Given the description of an element on the screen output the (x, y) to click on. 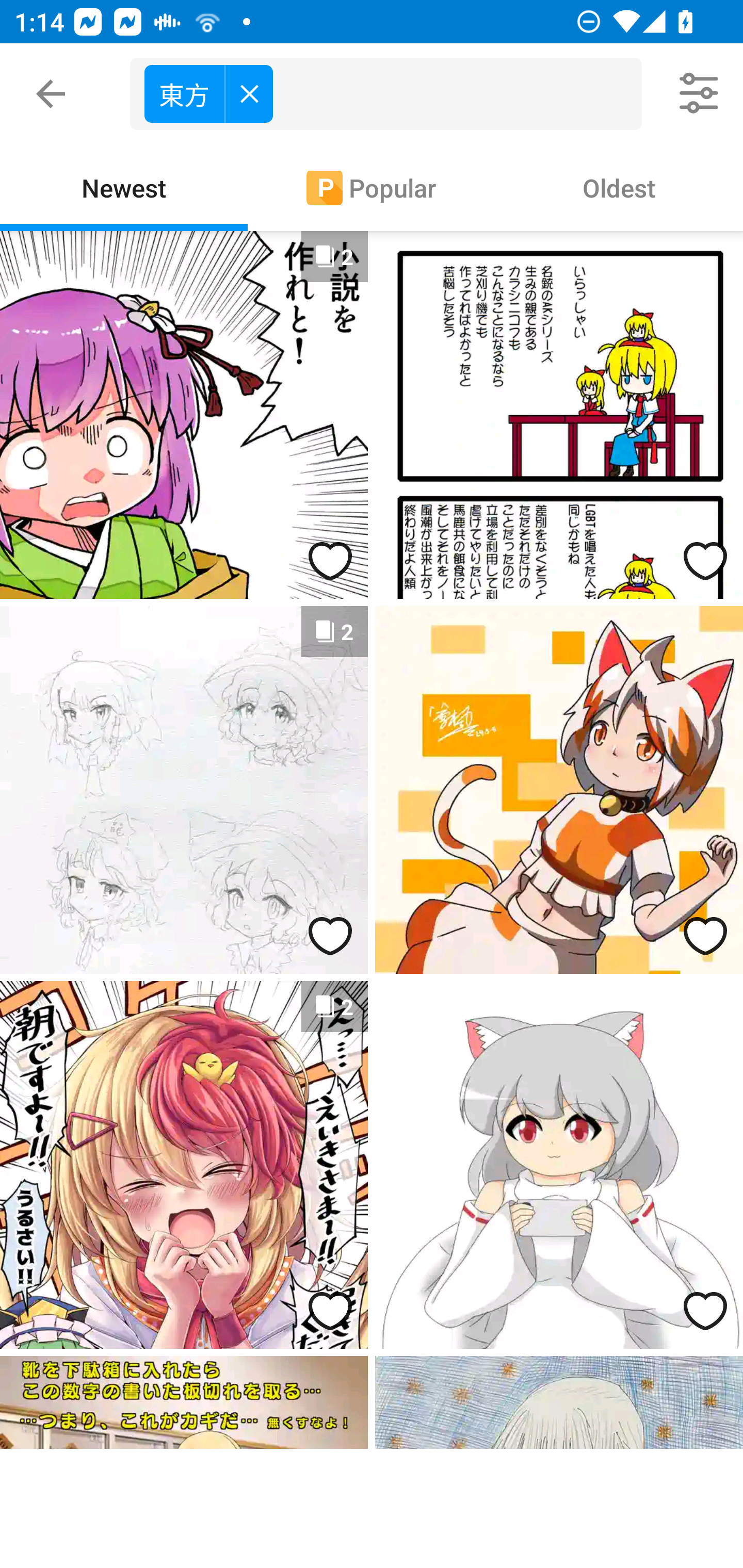
Navigate up (50, 93)
Filters (699, 93)
東方 (392, 94)
東方 (208, 93)
[P] Popular (371, 187)
Oldest (619, 187)
2 (183, 414)
2 (183, 789)
2 (183, 1164)
